Given the description of an element on the screen output the (x, y) to click on. 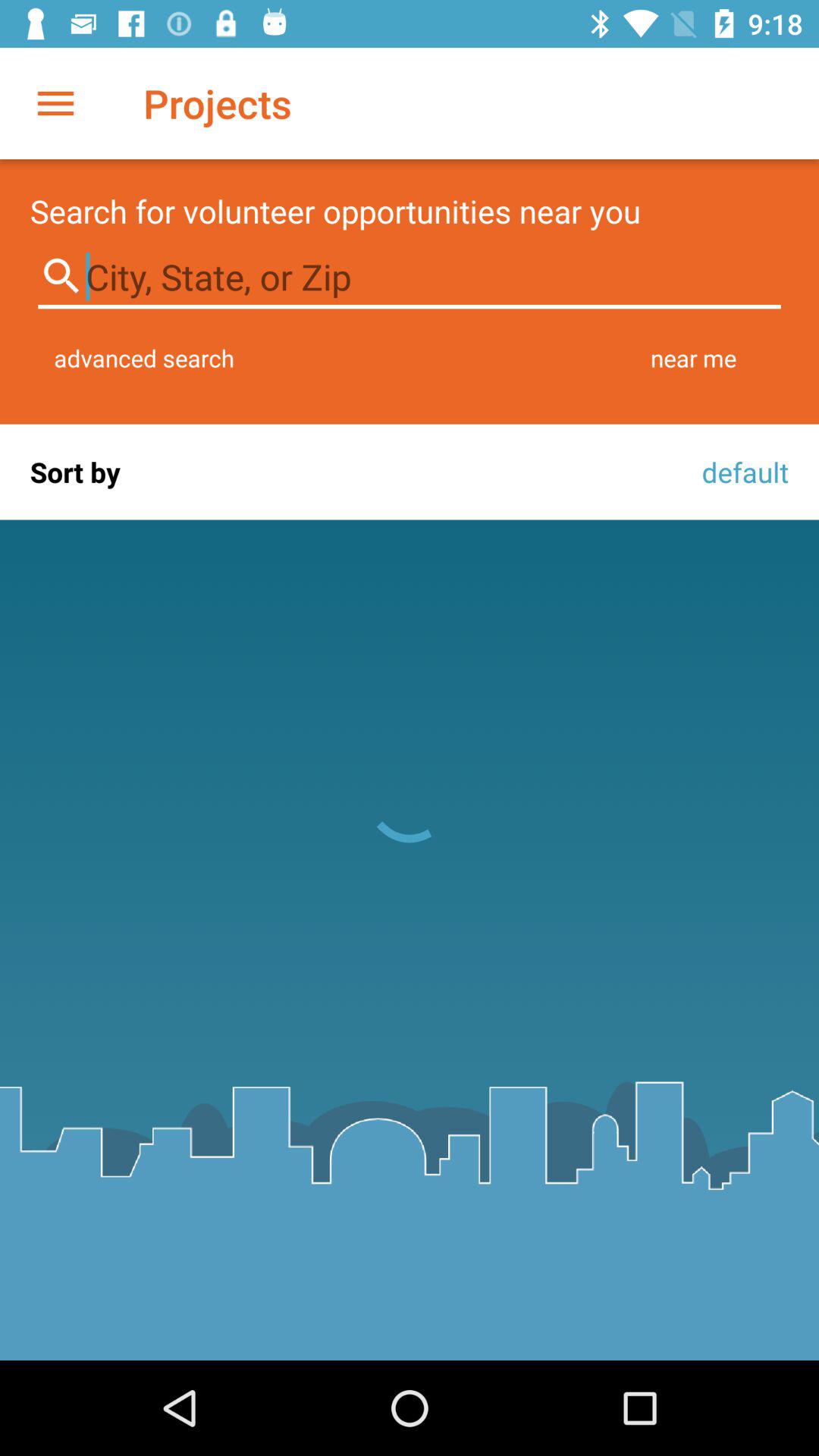
open icon above the default item (692, 358)
